Given the description of an element on the screen output the (x, y) to click on. 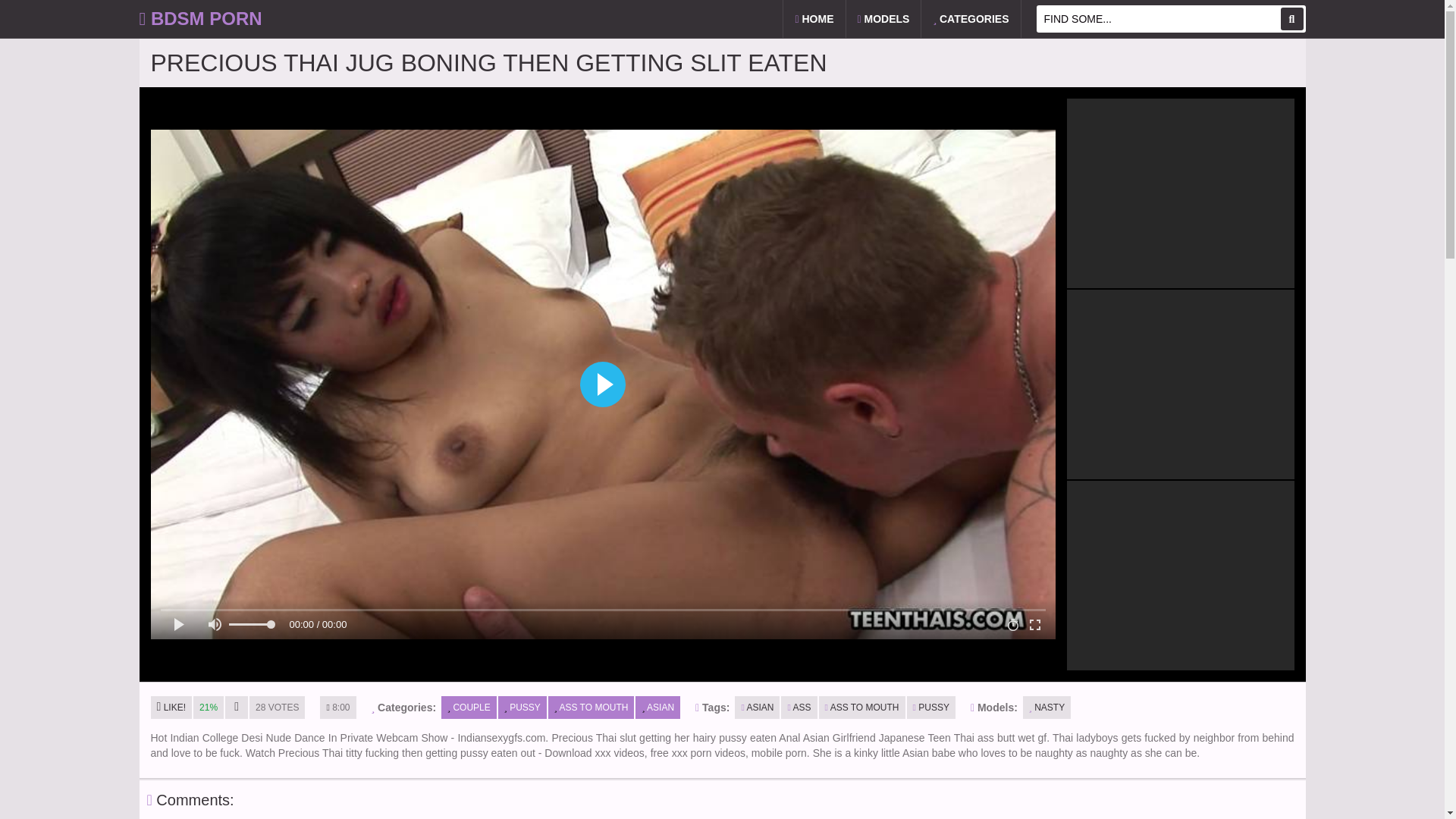
NASTY (1046, 707)
ASS TO MOUTH (591, 707)
PUSSY (931, 707)
ASS (798, 707)
PUSSY (522, 707)
ASIAN (656, 707)
COUPLE (468, 707)
Find (1291, 18)
ASS TO MOUTH (861, 707)
HOME (813, 18)
